Given the description of an element on the screen output the (x, y) to click on. 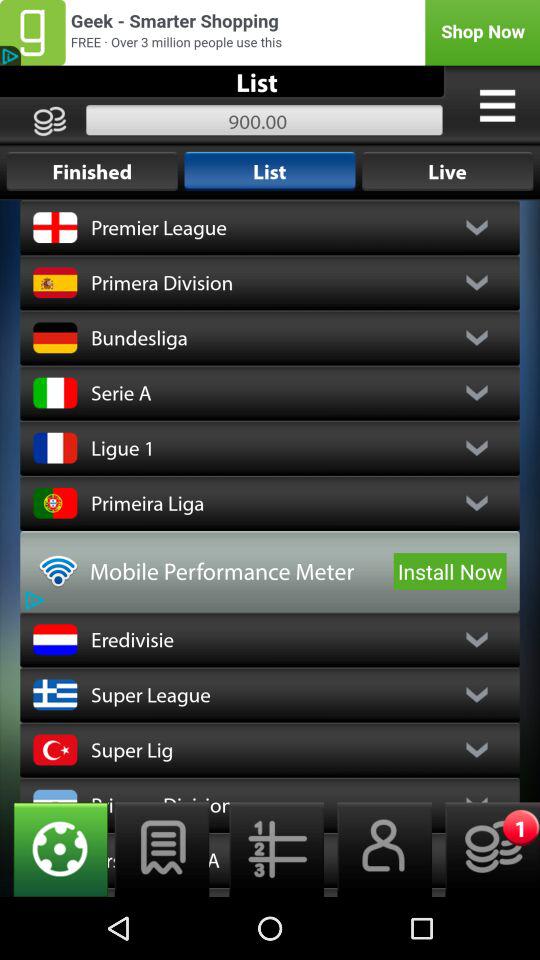
show more options for current list (497, 105)
